Given the description of an element on the screen output the (x, y) to click on. 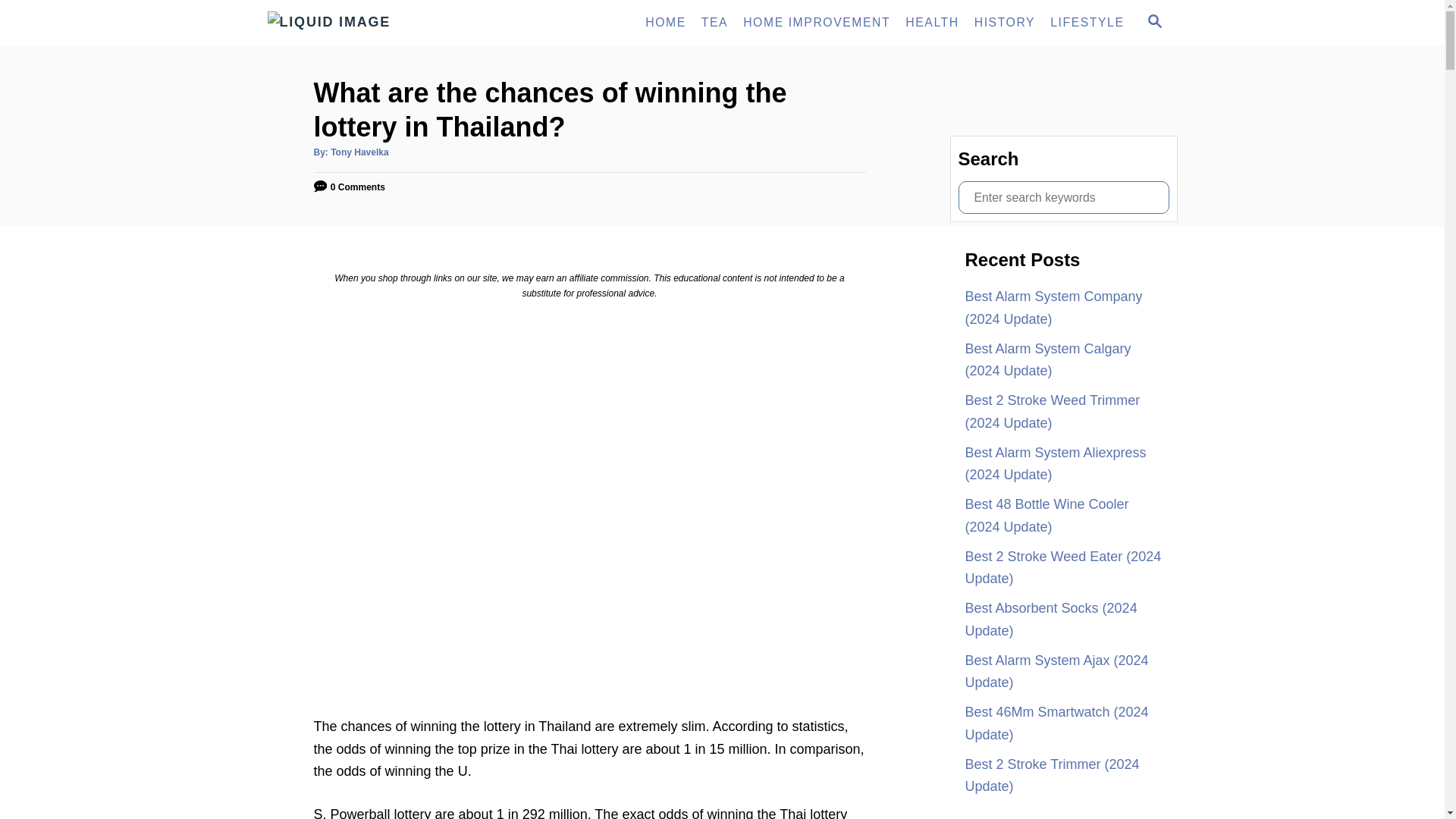
LIFESTYLE (1086, 22)
HOME IMPROVEMENT (816, 22)
TEA (714, 22)
Liquid Image (403, 22)
Tony Havelka (359, 152)
HOME (1153, 22)
YouTube player (665, 22)
HEALTH (1153, 21)
HISTORY (932, 22)
